Given the description of an element on the screen output the (x, y) to click on. 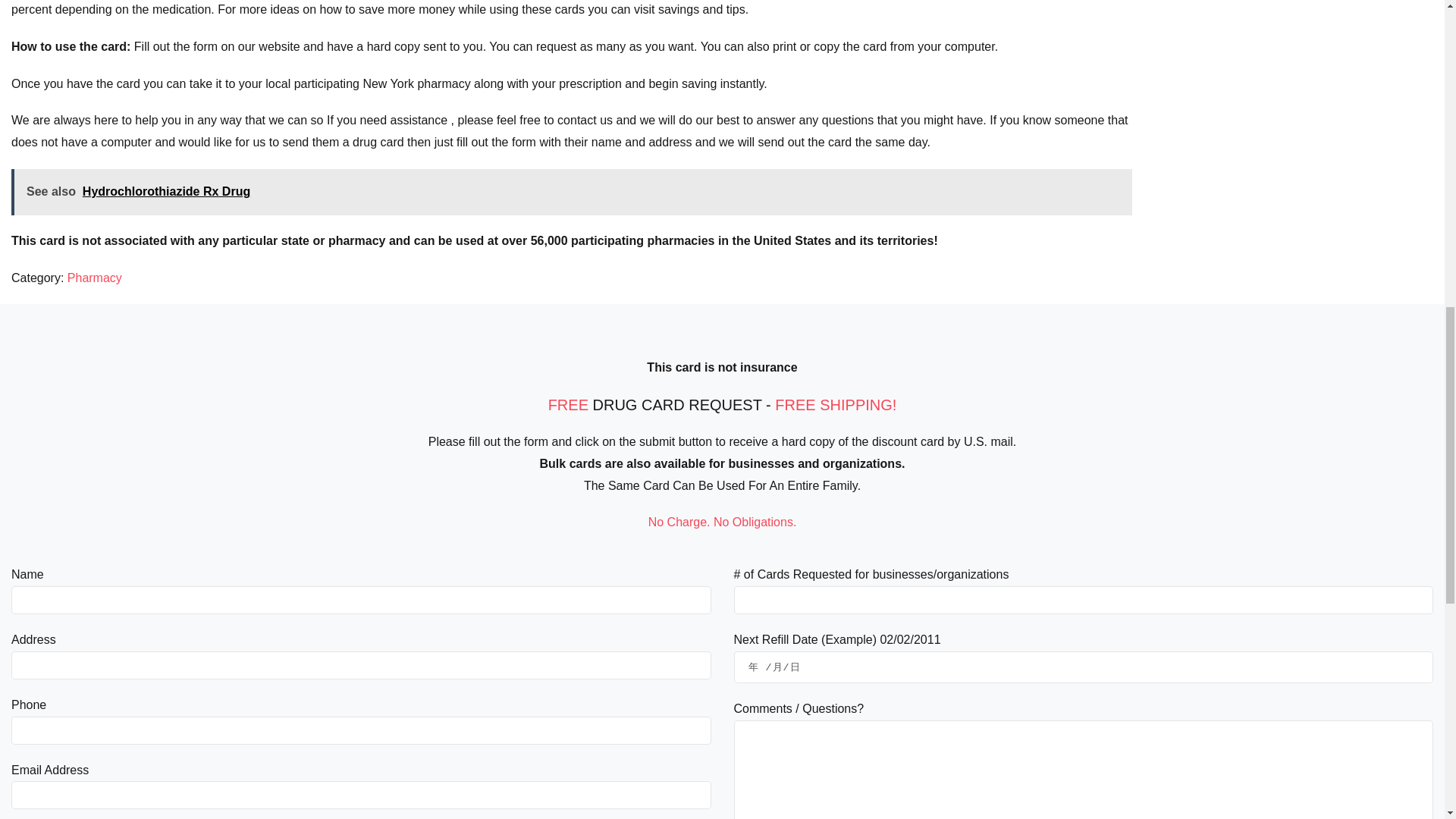
See also  Hydrochlorothiazide Rx Drug (571, 191)
Pharmacy (94, 277)
